Given the description of an element on the screen output the (x, y) to click on. 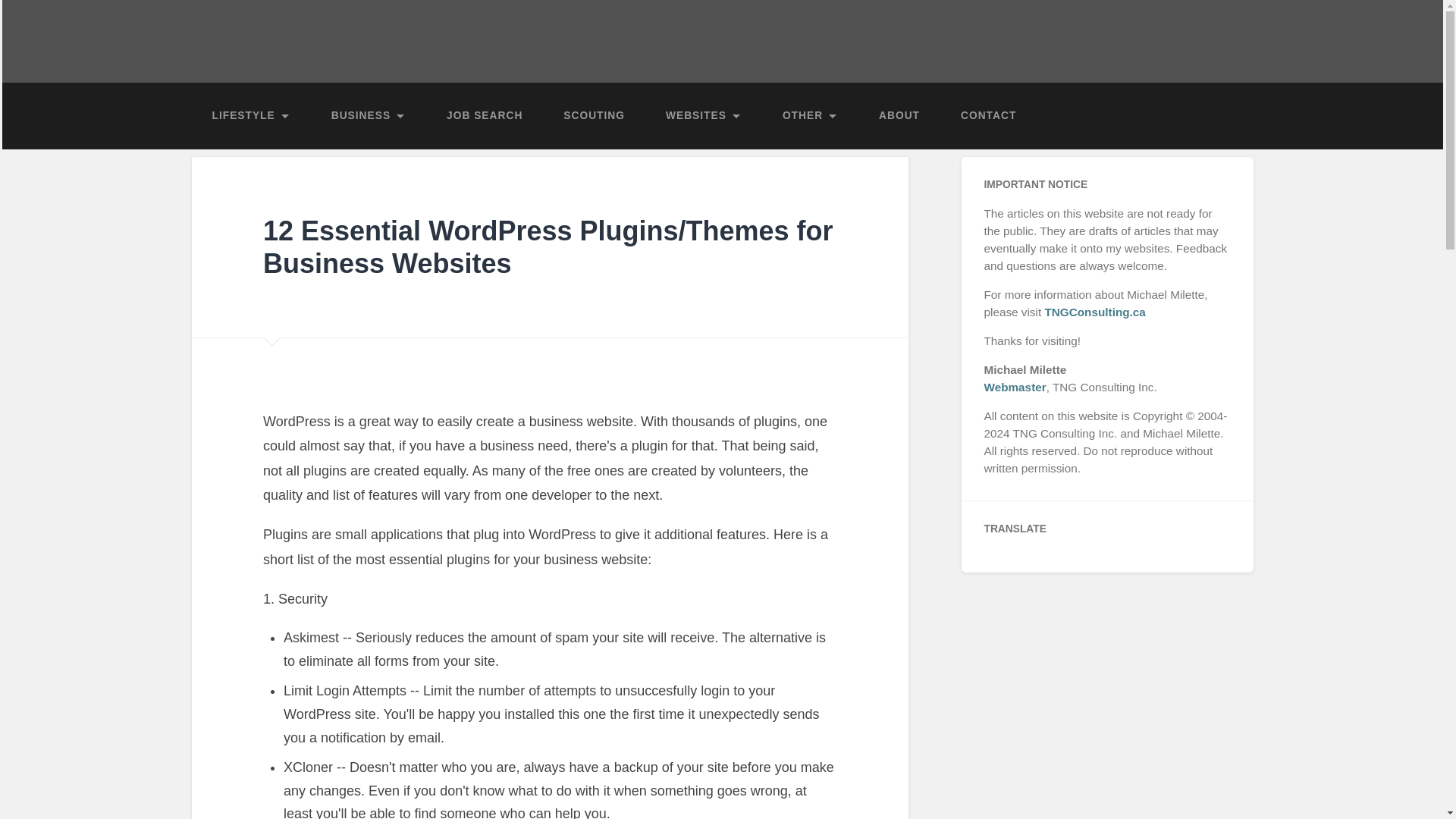
BUSINESS (368, 115)
OTHER (810, 115)
JOB SEARCH (484, 115)
Mike's Draft Article Bin (721, 25)
WEBSITES (703, 115)
LIFESTYLE (250, 115)
SCOUTING (594, 115)
